Given the description of an element on the screen output the (x, y) to click on. 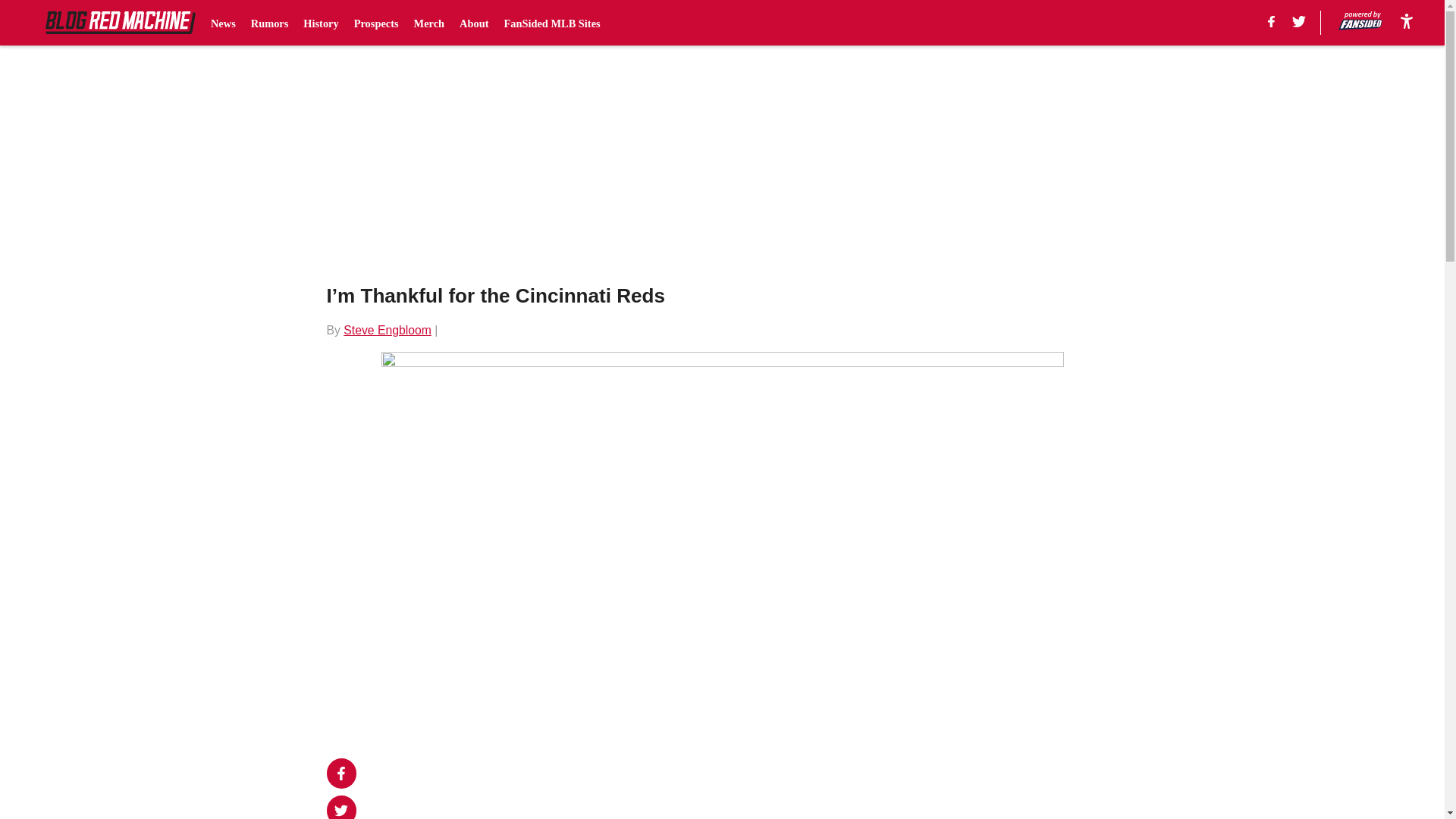
Prospects (375, 23)
History (319, 23)
Rumors (269, 23)
News (223, 23)
Steve Engbloom (386, 329)
FanSided MLB Sites (551, 23)
About (473, 23)
Merch (429, 23)
